Given the description of an element on the screen output the (x, y) to click on. 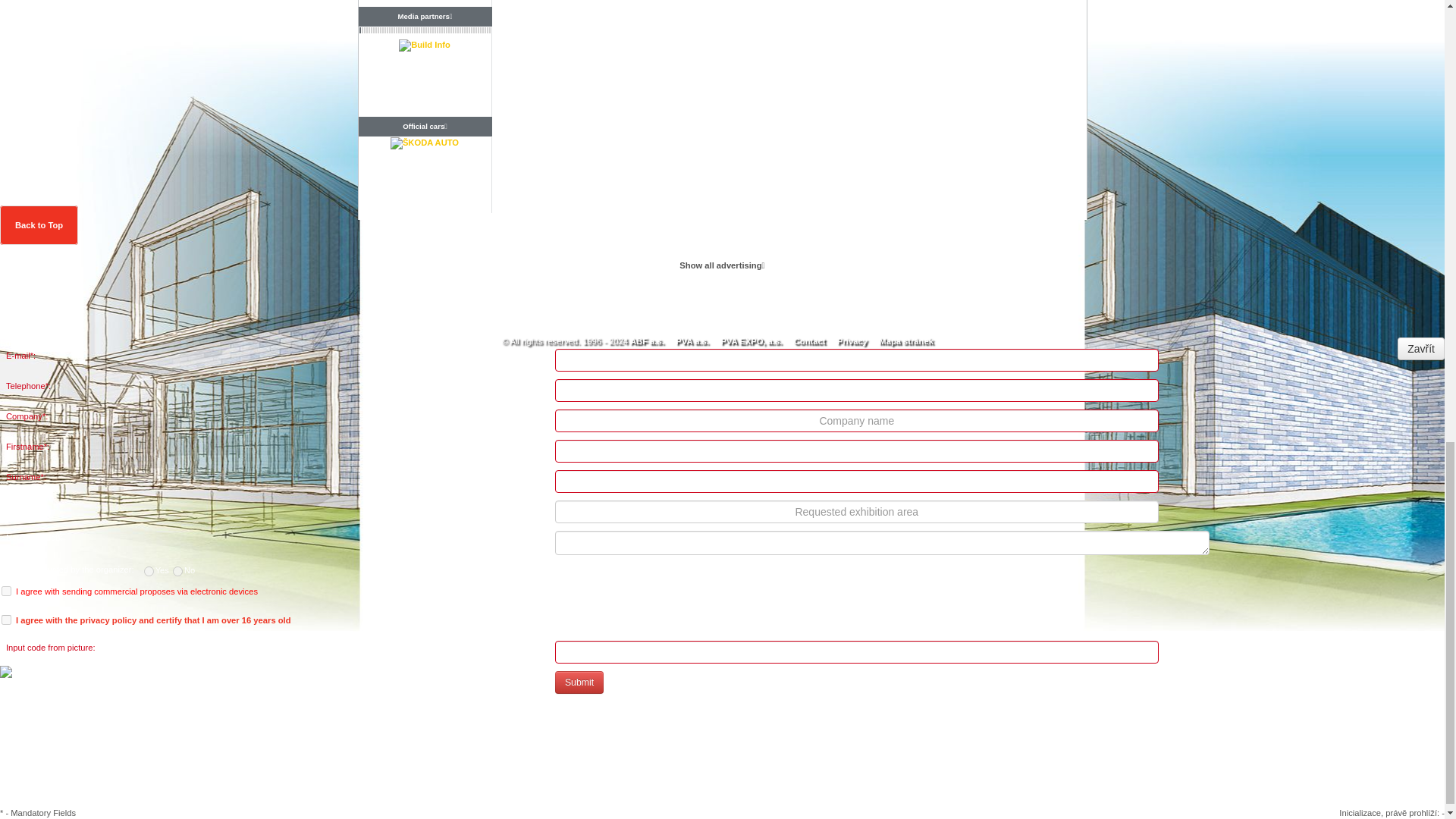
1 (6, 591)
1758 (178, 571)
1 (6, 619)
Contact (809, 340)
Privacy (852, 340)
1757 (149, 571)
Submit (579, 681)
ABF a.s. (646, 340)
Submit (579, 681)
Show all advertising (722, 264)
